Given the description of an element on the screen output the (x, y) to click on. 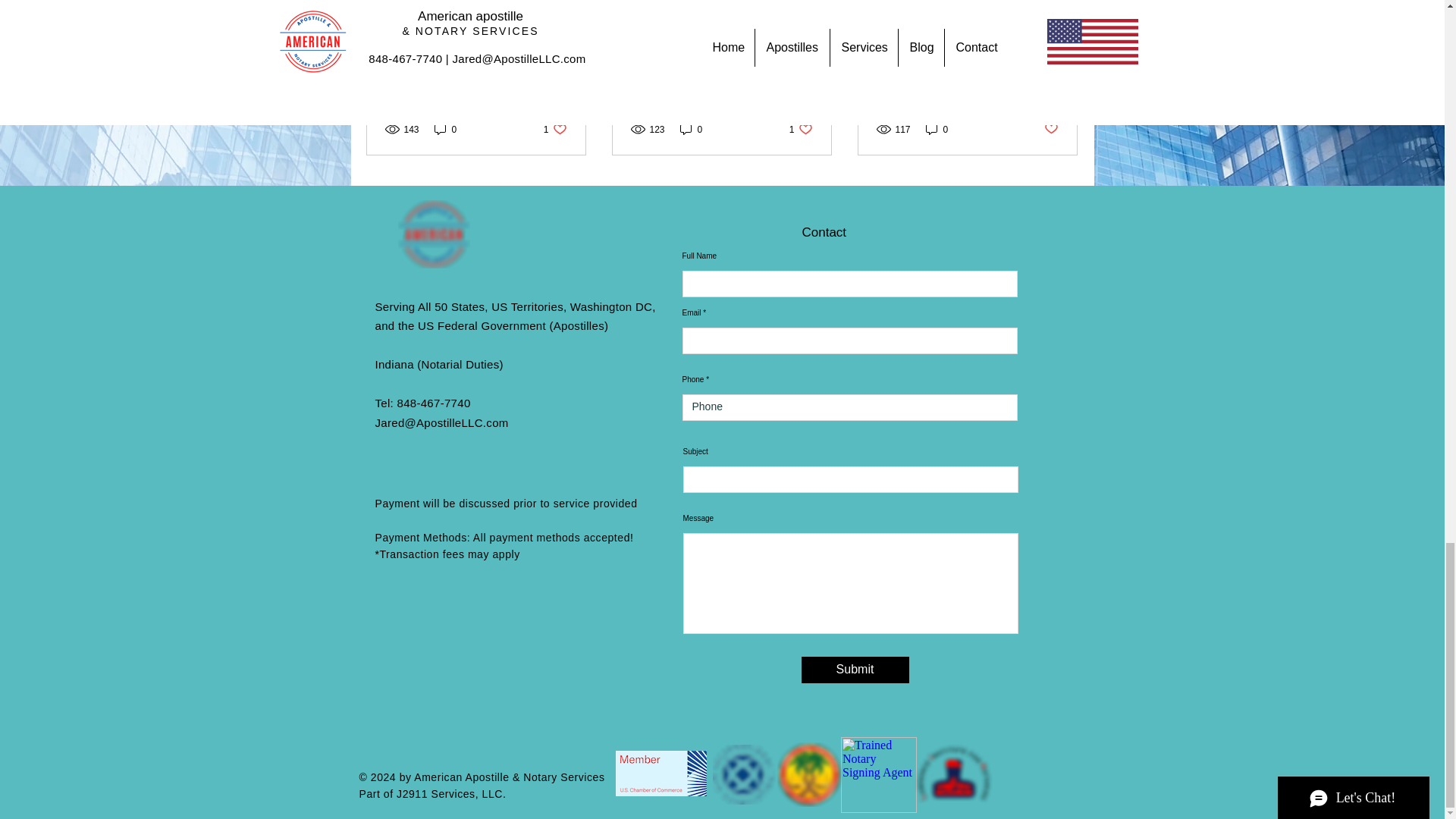
U.S. Chamber of Commerce Logo (661, 774)
Post not marked as liked (800, 129)
0 (555, 129)
0 (1050, 129)
0 (691, 129)
